Given the description of an element on the screen output the (x, y) to click on. 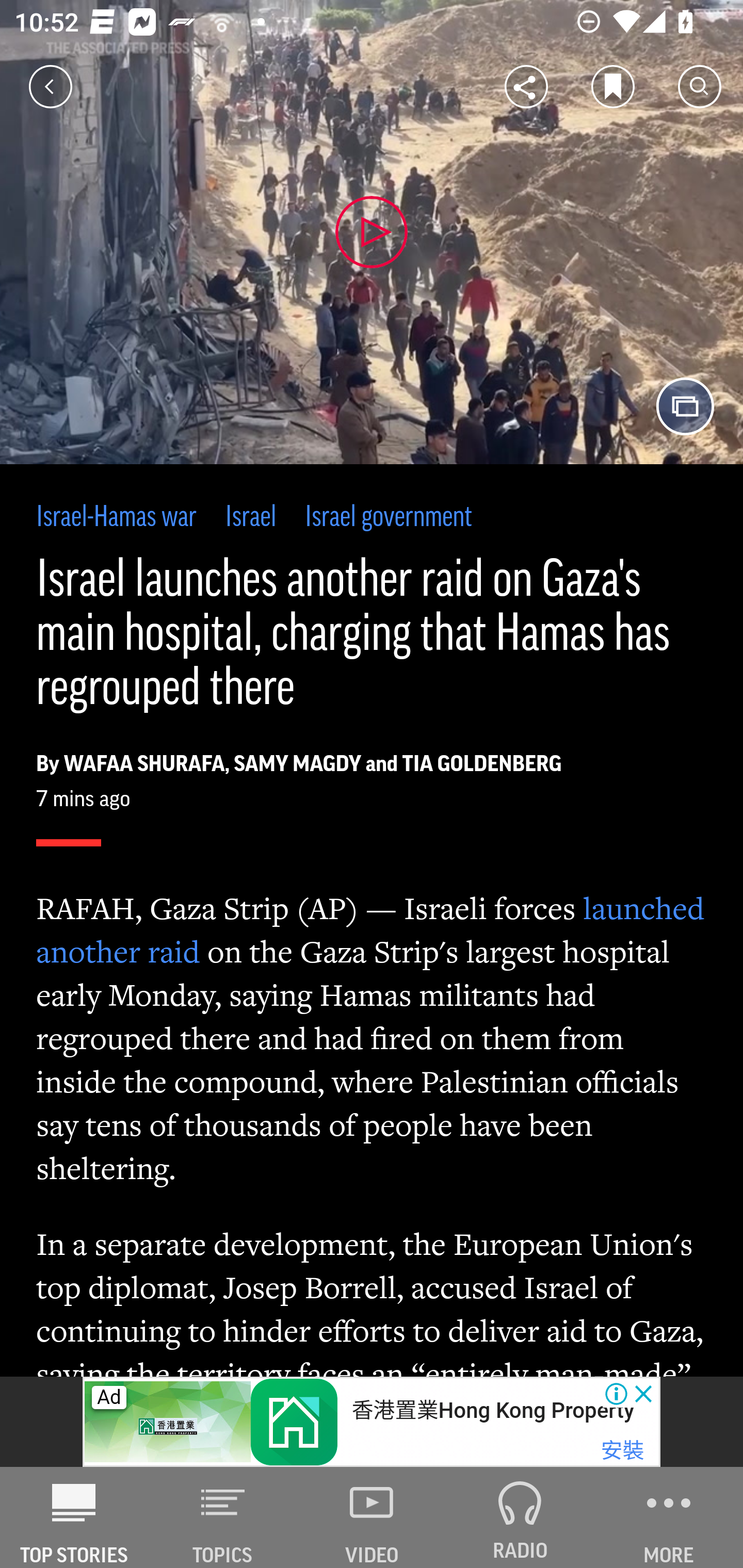
Israel-Hamas war (117, 518)
Israel (250, 518)
Israel government (388, 518)
launched another raid (370, 929)
香港置業Hong Kong Property (492, 1410)
安裝 (621, 1450)
AP News TOP STORIES (74, 1517)
TOPICS (222, 1517)
VIDEO (371, 1517)
RADIO (519, 1517)
MORE (668, 1517)
